Given the description of an element on the screen output the (x, y) to click on. 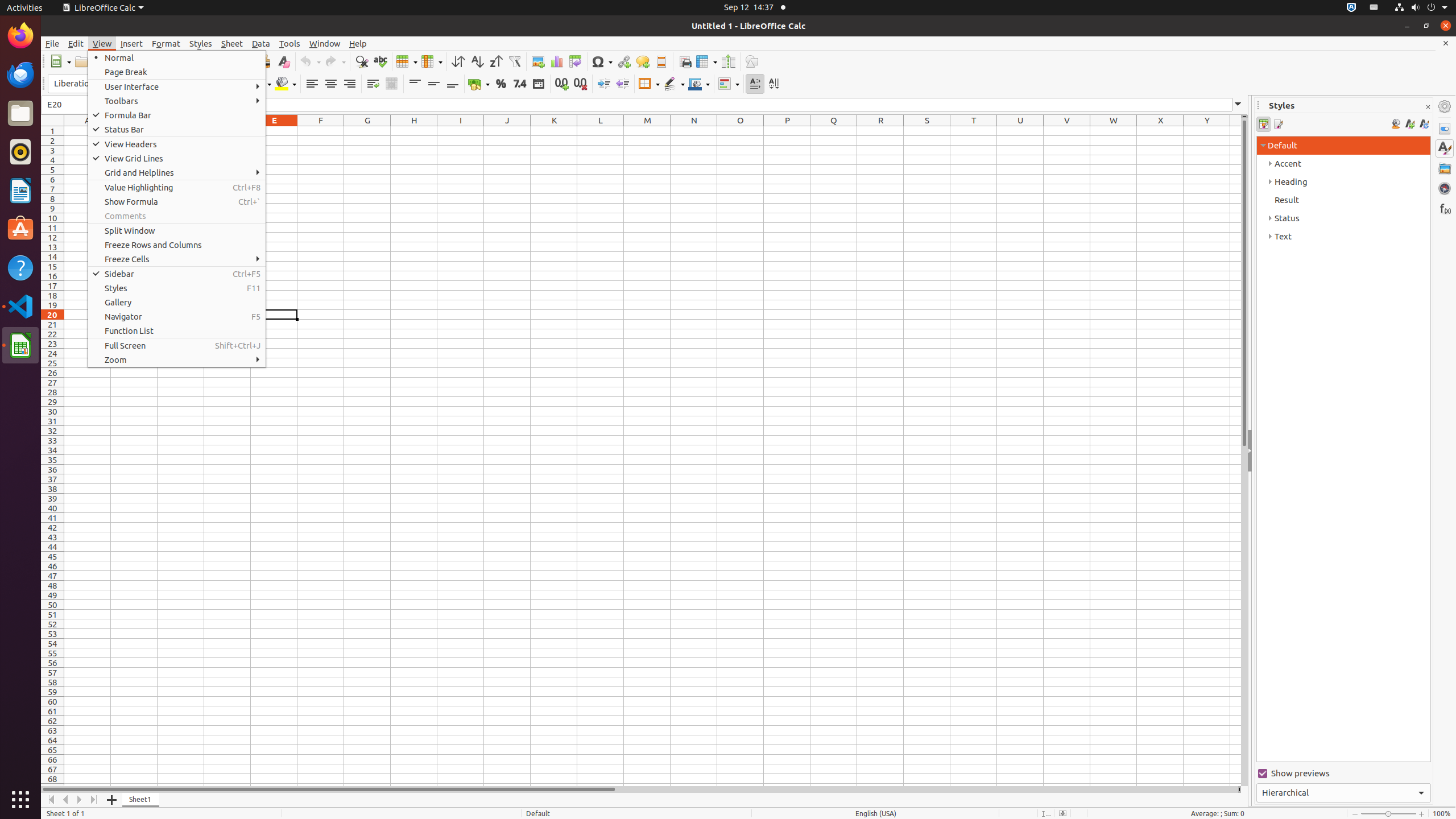
Align Center Element type: push-button (330, 83)
Conditional Element type: push-button (728, 83)
Styles Element type: radio-button (1444, 148)
Grid and Helplines Element type: menu (176, 172)
Redo Element type: push-button (334, 61)
